Given the description of an element on the screen output the (x, y) to click on. 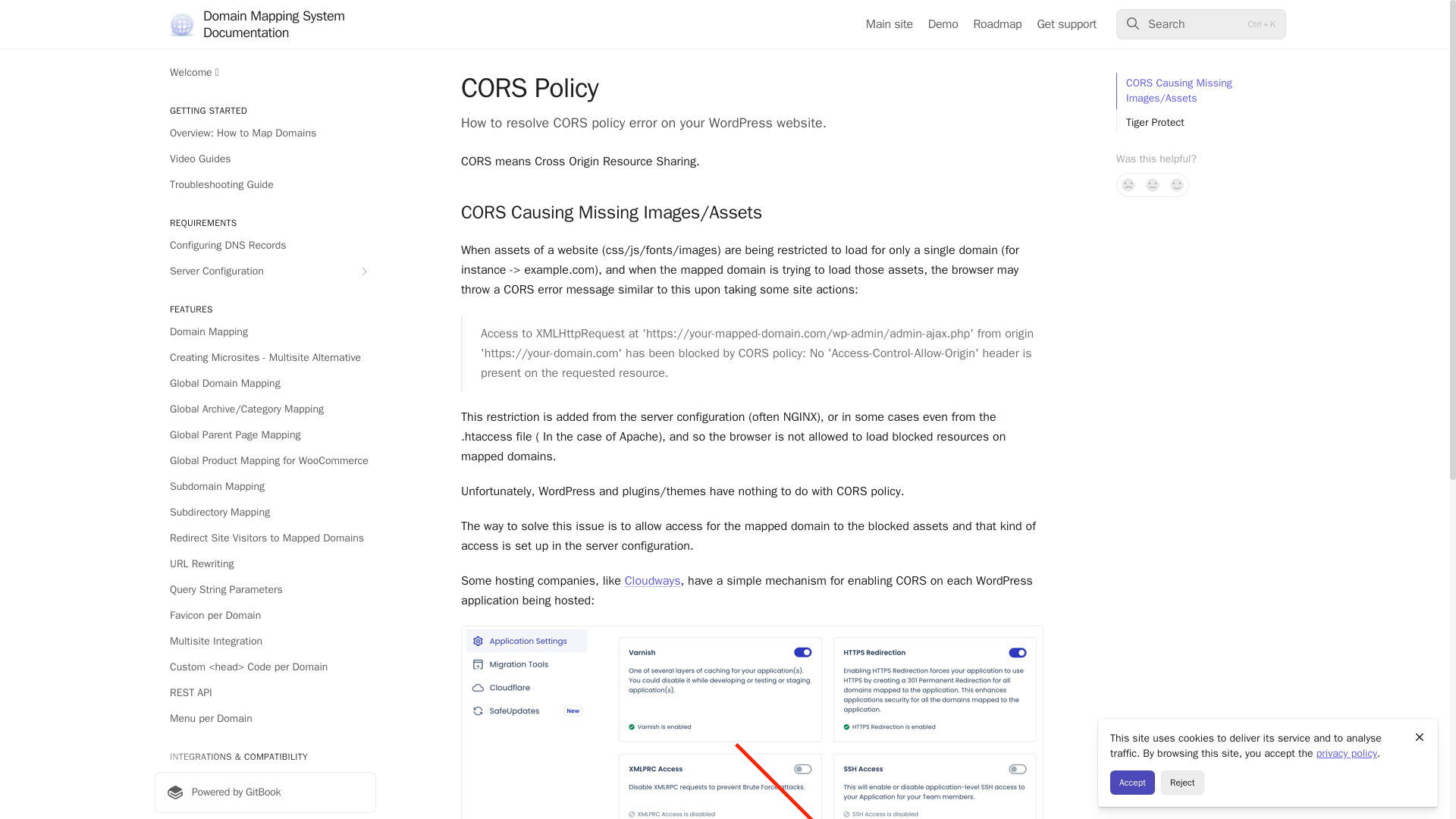
Main site (889, 24)
Favicon per Domain (264, 615)
Subdomain Mapping (264, 486)
WordPress Plugins (264, 779)
Roadmap (998, 24)
Not sure (1152, 184)
Global Domain Mapping (264, 383)
Global Product Mapping for WooCommerce (264, 460)
Close (1419, 737)
Subdirectory Mapping (264, 512)
Redirect Site Visitors to Mapped Domains (264, 538)
Get support (1066, 24)
Domain Mapping System Documentation (284, 24)
Server Configuration (264, 271)
Overview: How to Map Domains (264, 133)
